Given the description of an element on the screen output the (x, y) to click on. 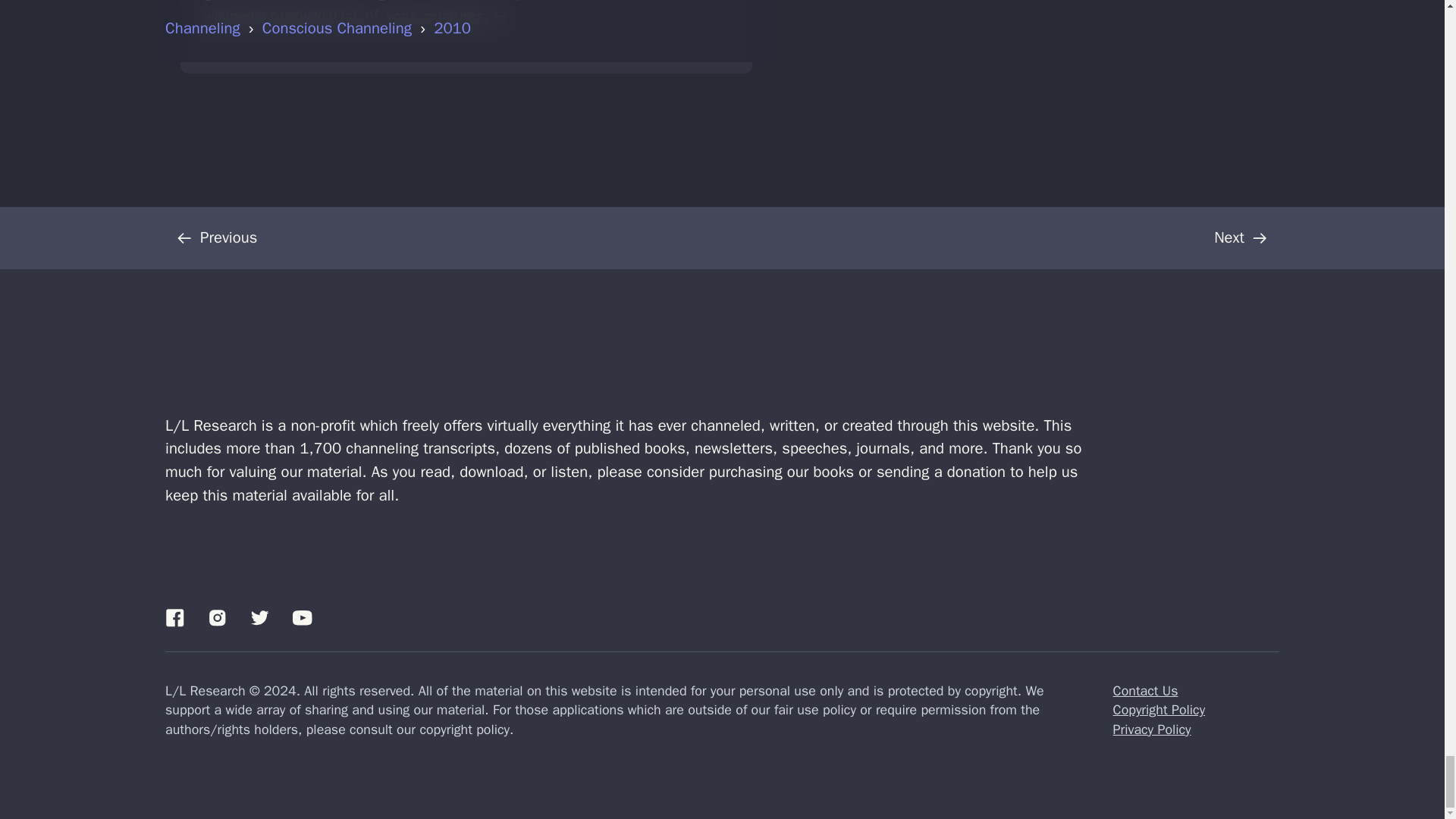
Facebook (174, 617)
YouTube (301, 617)
Twitter (259, 617)
Instagram (217, 617)
